Given the description of an element on the screen output the (x, y) to click on. 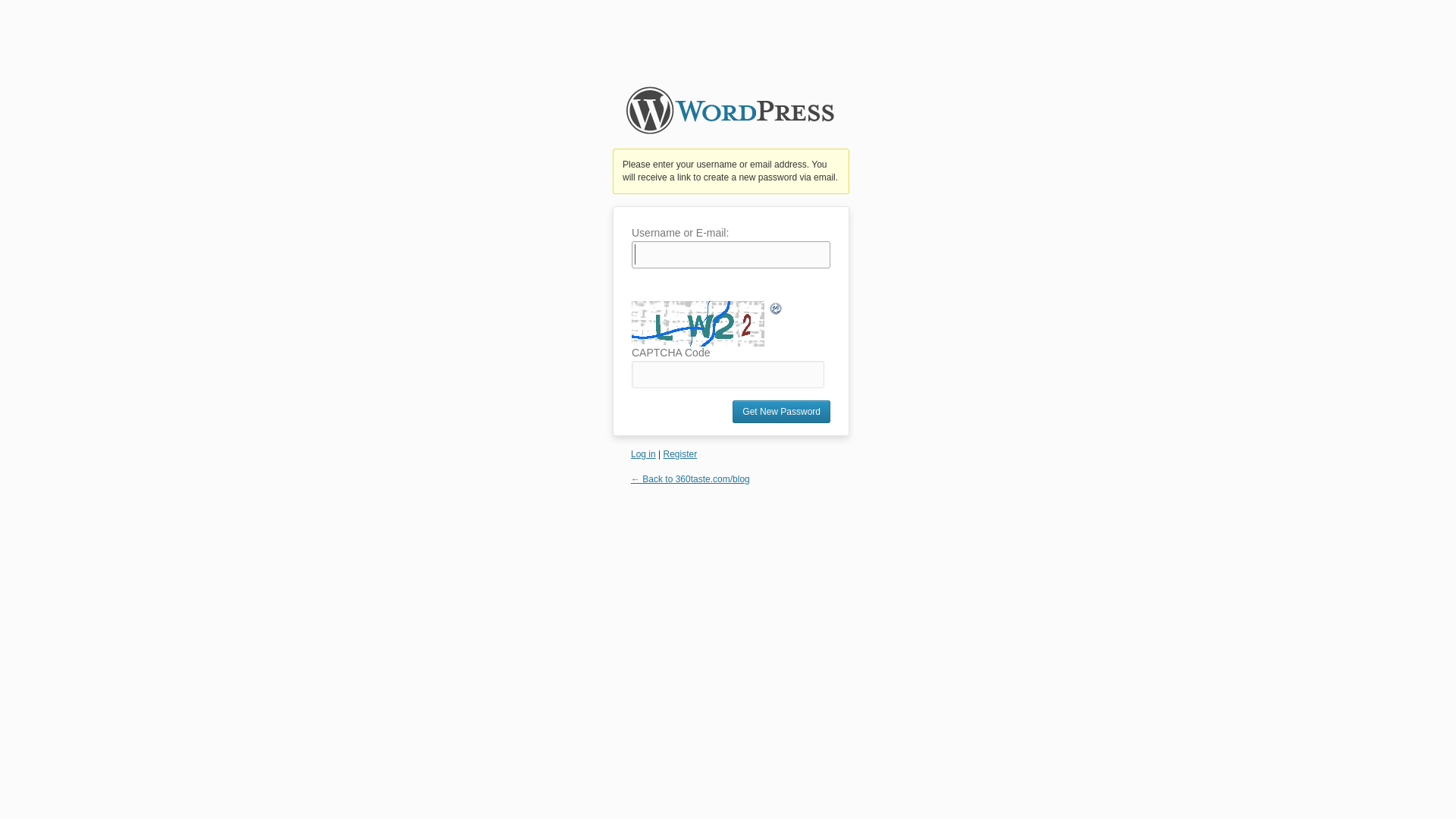
Register Element type: text (679, 453)
CAPTCHA Image Element type: hover (699, 323)
Refresh Image Element type: hover (776, 309)
360taste.com/blog Element type: text (729, 117)
Get New Password Element type: text (781, 411)
Log in Element type: text (642, 453)
